Given the description of an element on the screen output the (x, y) to click on. 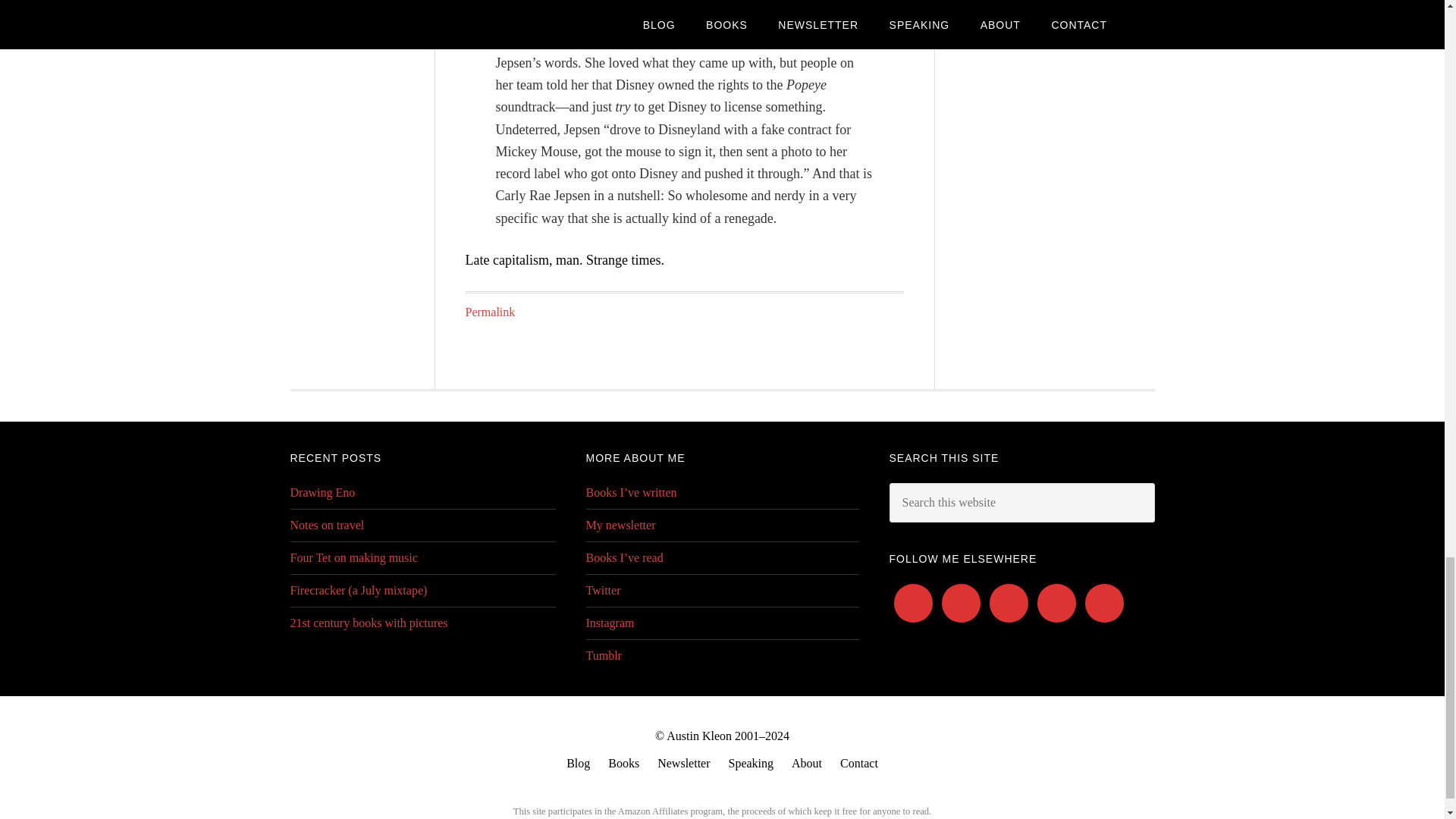
Read my books (623, 763)
Drawing Eno (322, 492)
Permalink (490, 311)
